Given the description of an element on the screen output the (x, y) to click on. 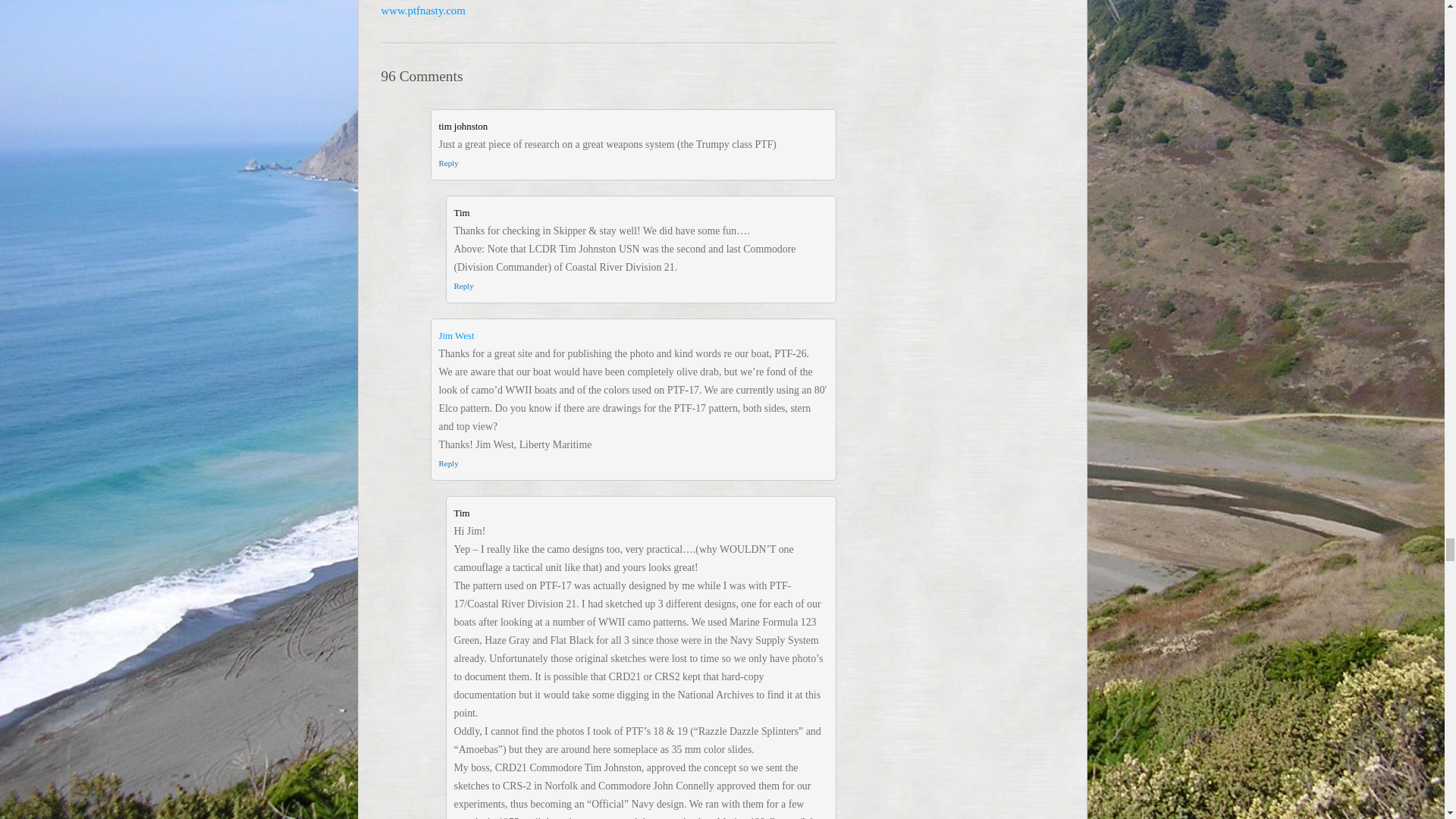
www.ptfnasty.com (422, 10)
Reply (448, 462)
Reply (448, 162)
Reply (462, 285)
Jim West (456, 335)
